Given the description of an element on the screen output the (x, y) to click on. 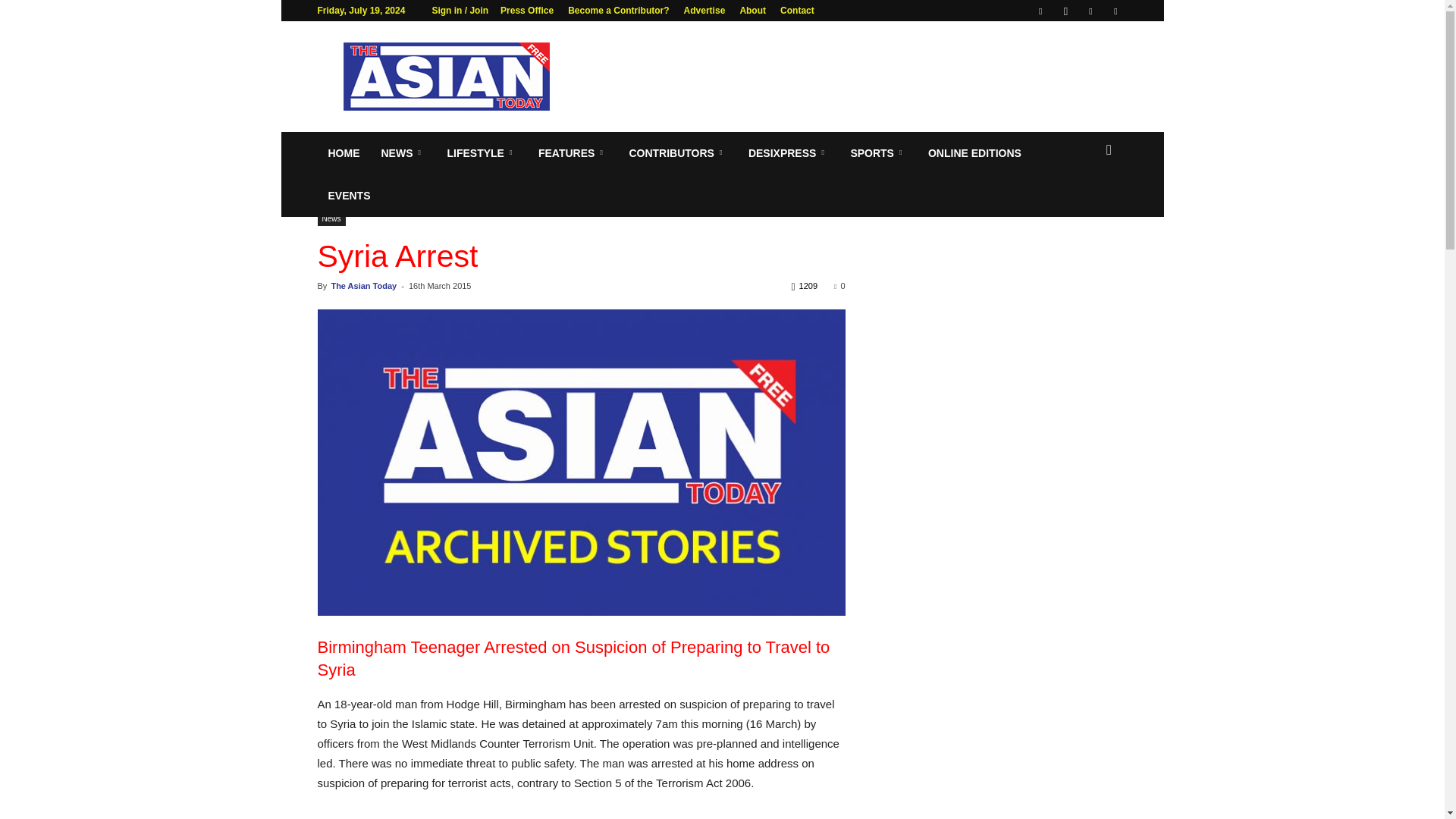
Twitter (1090, 10)
Facebook (1040, 10)
Youtube (1114, 10)
Instagram (1065, 10)
